Given the description of an element on the screen output the (x, y) to click on. 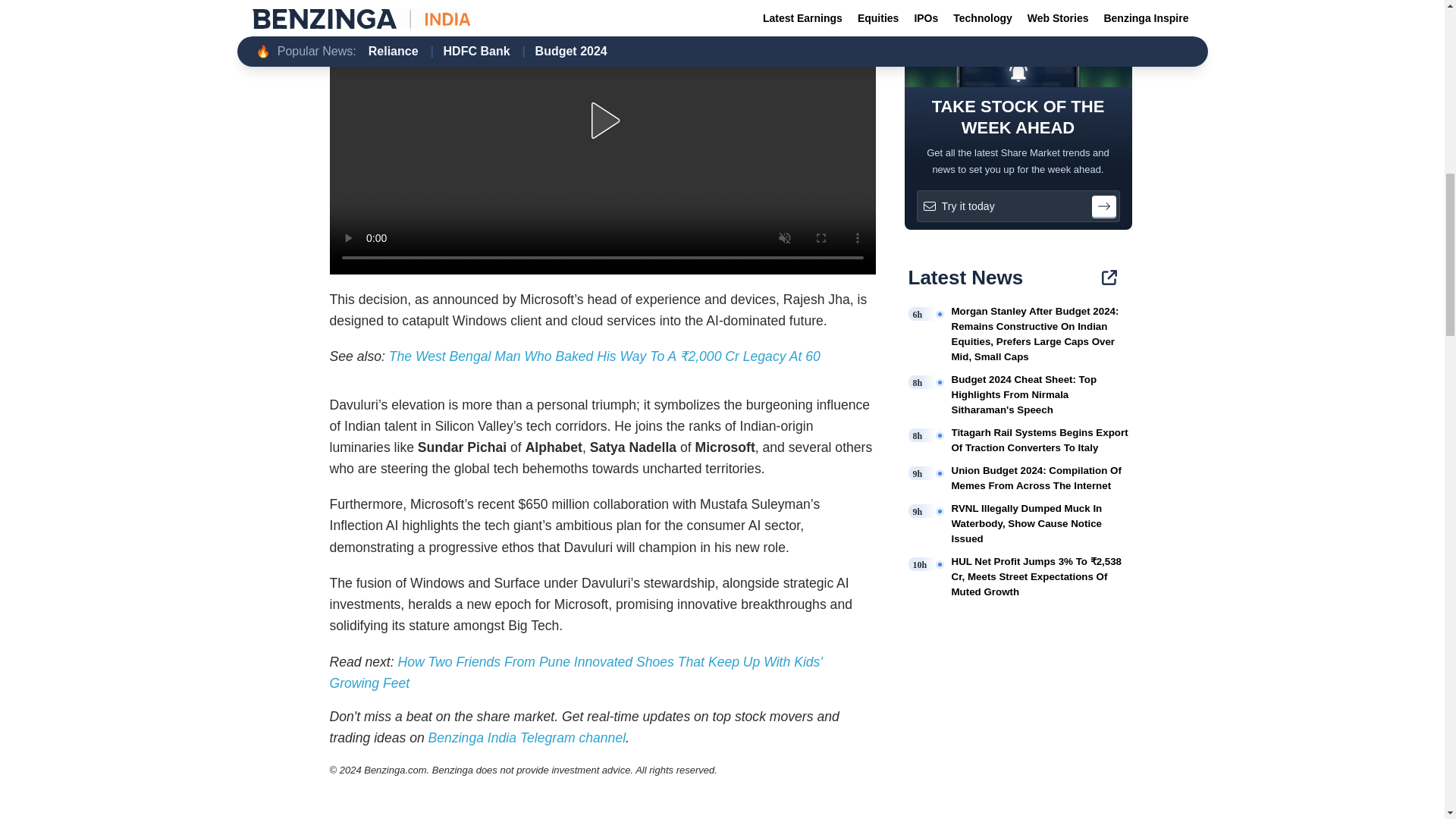
Benzinga India Telegram channel (527, 737)
